Given the description of an element on the screen output the (x, y) to click on. 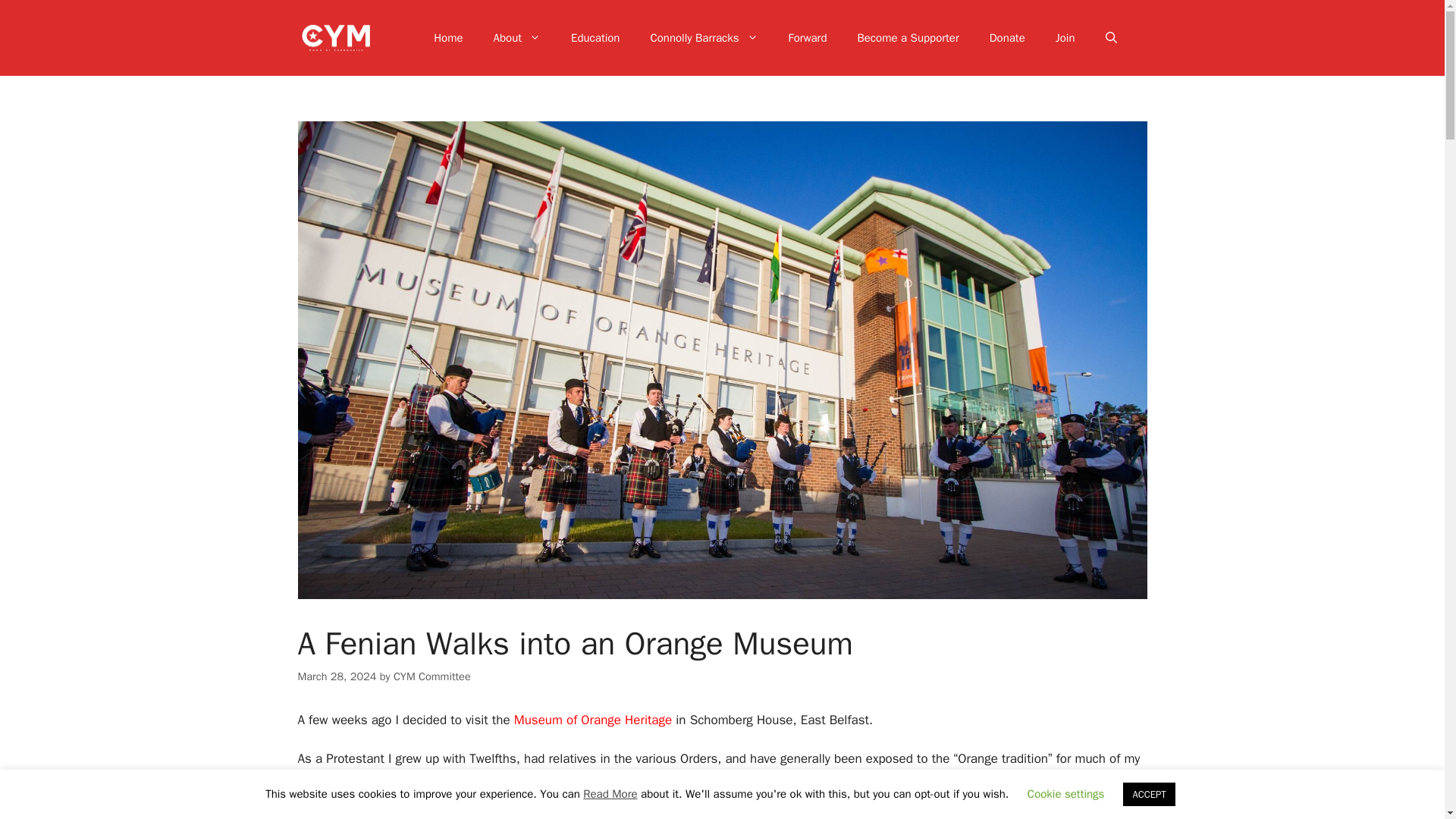
Read More (610, 793)
Education (595, 37)
Connolly Barracks (703, 37)
Home (448, 37)
View all posts by CYM Committee (431, 676)
About (517, 37)
Join (1065, 37)
Museum of Orange Heritage (592, 719)
Donate (1007, 37)
Forward (808, 37)
ACCEPT (1148, 793)
CYM Committee (431, 676)
Become a Supporter (907, 37)
Cookie settings (1066, 793)
